Given the description of an element on the screen output the (x, y) to click on. 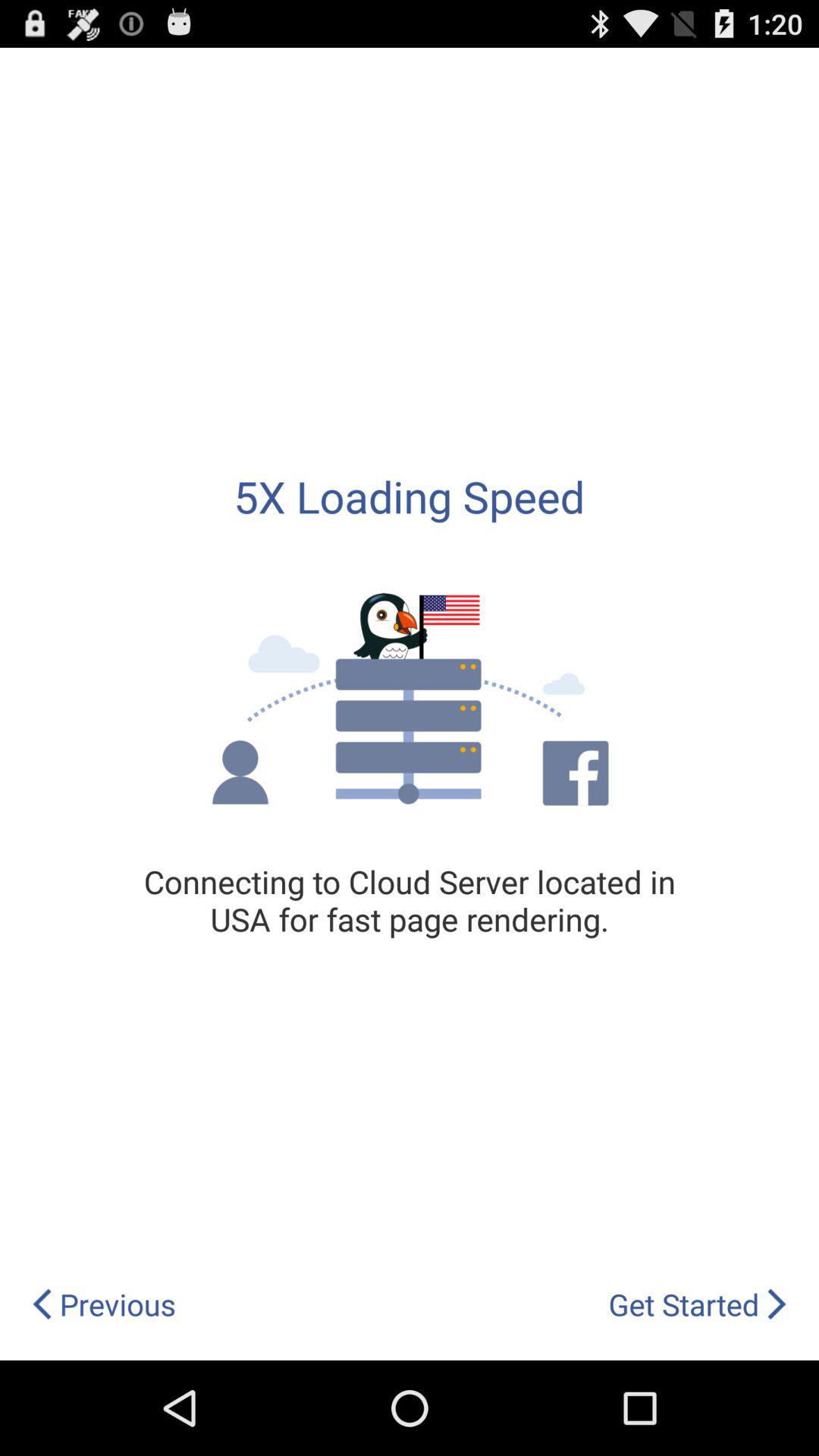
scroll until the previous icon (103, 1304)
